Given the description of an element on the screen output the (x, y) to click on. 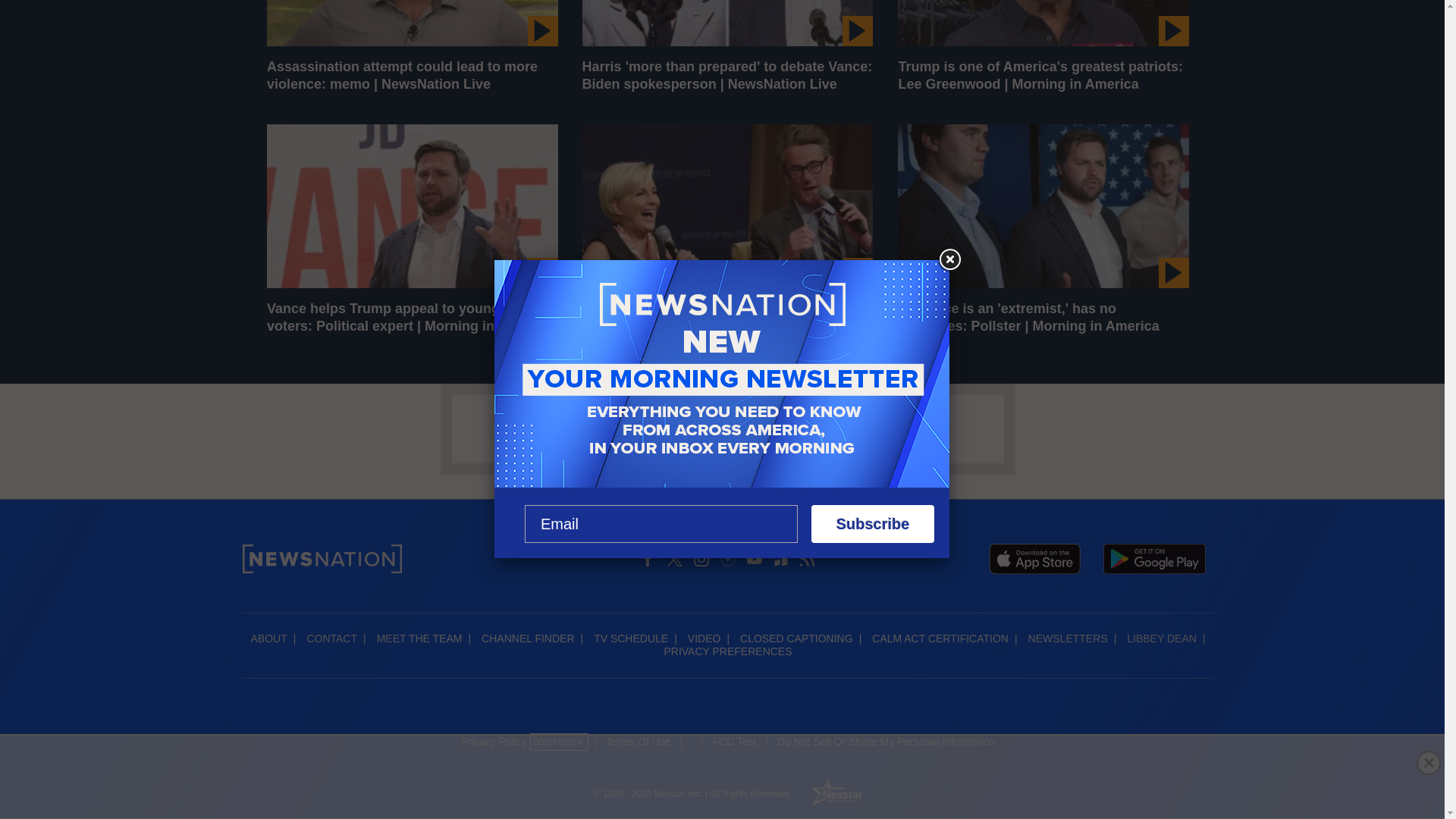
Pinterest (727, 558)
YouTube (753, 558)
X (674, 558)
Instagram (701, 558)
RSS Feed (807, 558)
Haystack (781, 558)
Facebook (648, 558)
